Given the description of an element on the screen output the (x, y) to click on. 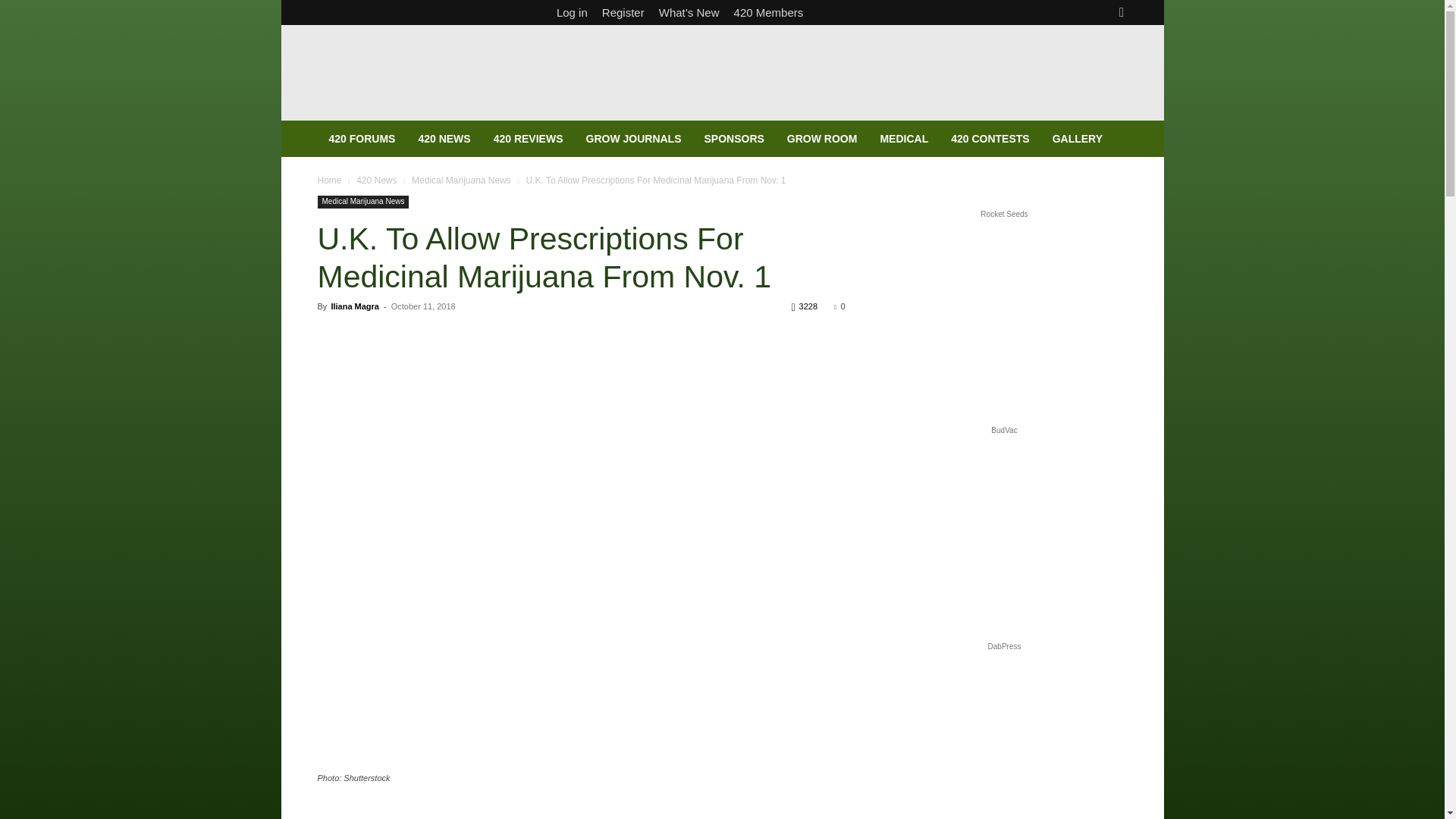
View all posts in 420 News (376, 180)
View all posts in Medical Marijuana News (461, 180)
